Given the description of an element on the screen output the (x, y) to click on. 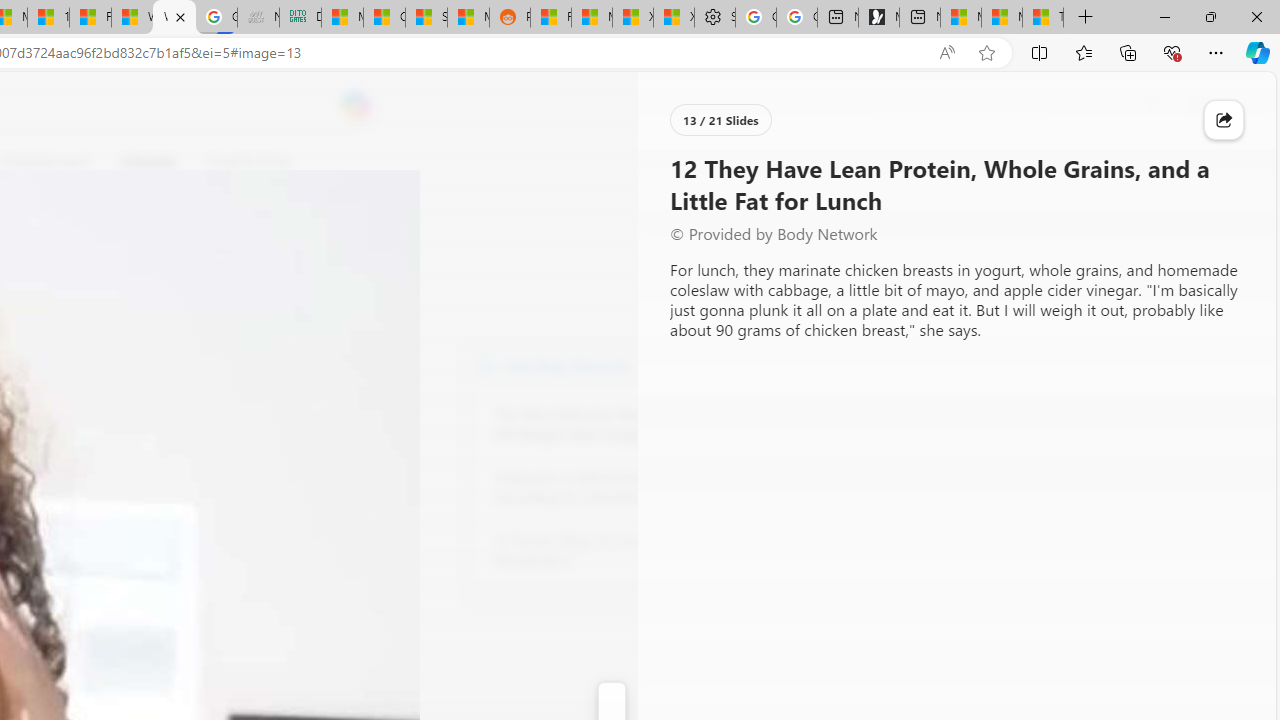
Microsoft rewards (1151, 105)
Microsoft Start Gaming (878, 17)
Navy Quest (258, 17)
Class: at-item immersive (1224, 120)
Body Network (486, 364)
R******* | Trusted Community Engagement and Contributions (550, 17)
